Given the description of an element on the screen output the (x, y) to click on. 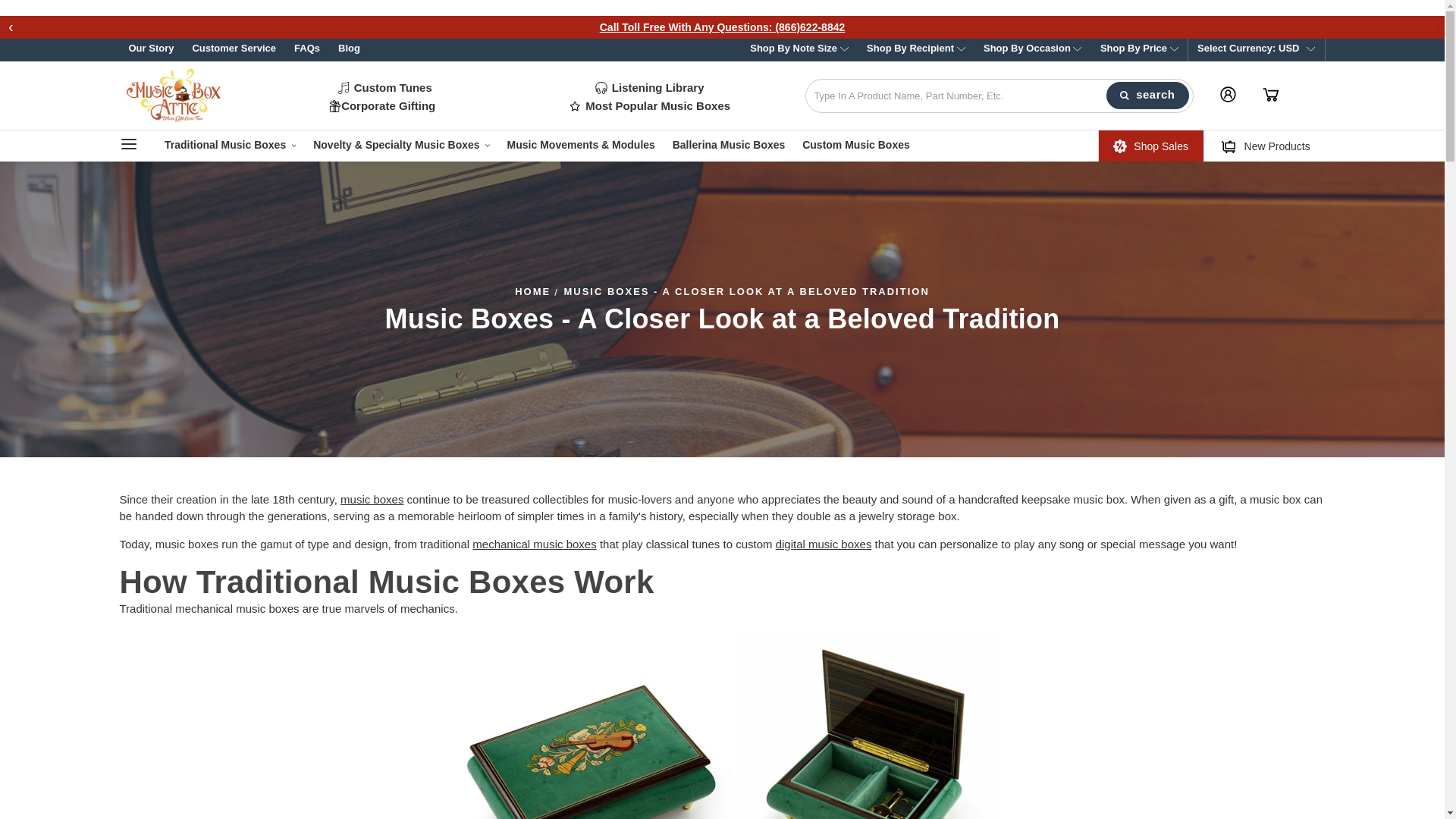
Blog (349, 49)
Our Story (151, 49)
Shop By Note Size (799, 49)
FAQs (307, 49)
Shop By Occasion (1032, 49)
Skip to content (10, 26)
Traditional Wood Inlay Music Box (722, 726)
Customer Service (234, 49)
MusicBoxAttic.com (175, 94)
Shop By Recipient (915, 49)
Previous (10, 19)
Shop By Price (1139, 49)
